Given the description of an element on the screen output the (x, y) to click on. 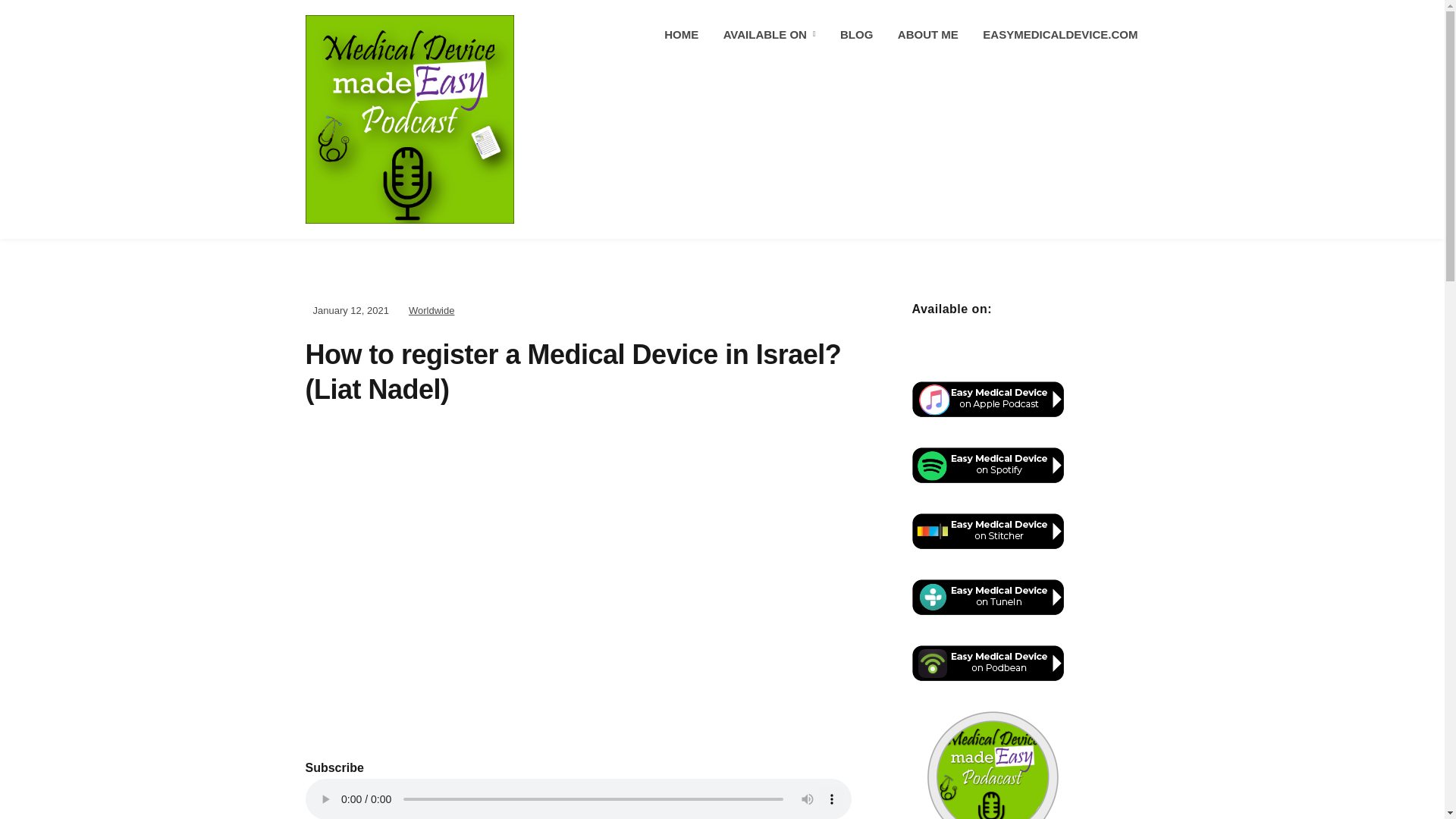
HOME (681, 34)
AVAILABLE ON (769, 34)
BLOG (856, 34)
